Given the description of an element on the screen output the (x, y) to click on. 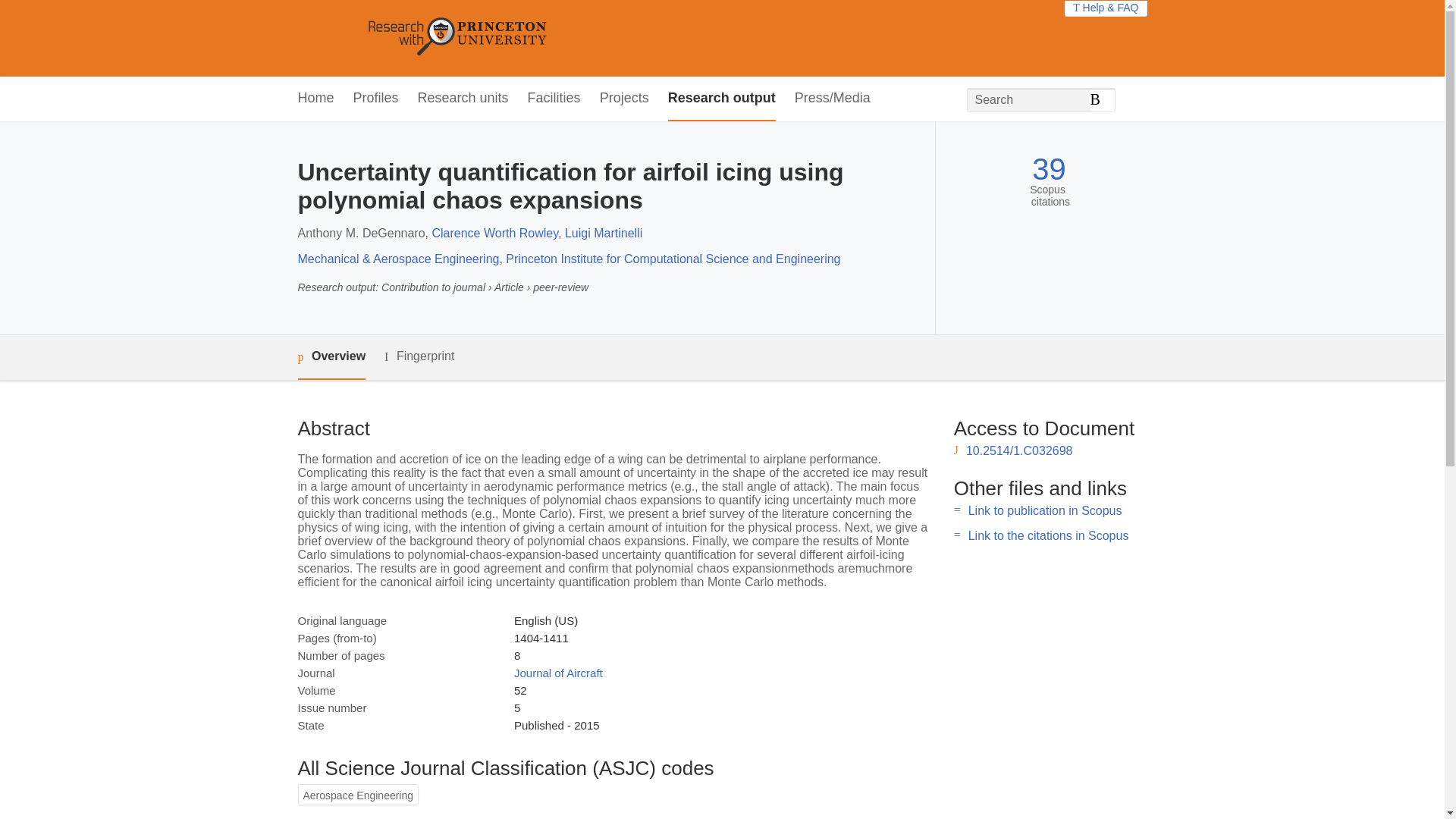
Overview (331, 357)
Journal of Aircraft (557, 672)
Projects (624, 98)
Research units (462, 98)
Princeton University Home (567, 38)
Facilities (553, 98)
Link to publication in Scopus (1045, 510)
Fingerprint (419, 356)
Link to the citations in Scopus (1048, 535)
Luigi Martinelli (603, 232)
Research output (722, 98)
Profiles (375, 98)
39 (1048, 169)
